Given the description of an element on the screen output the (x, y) to click on. 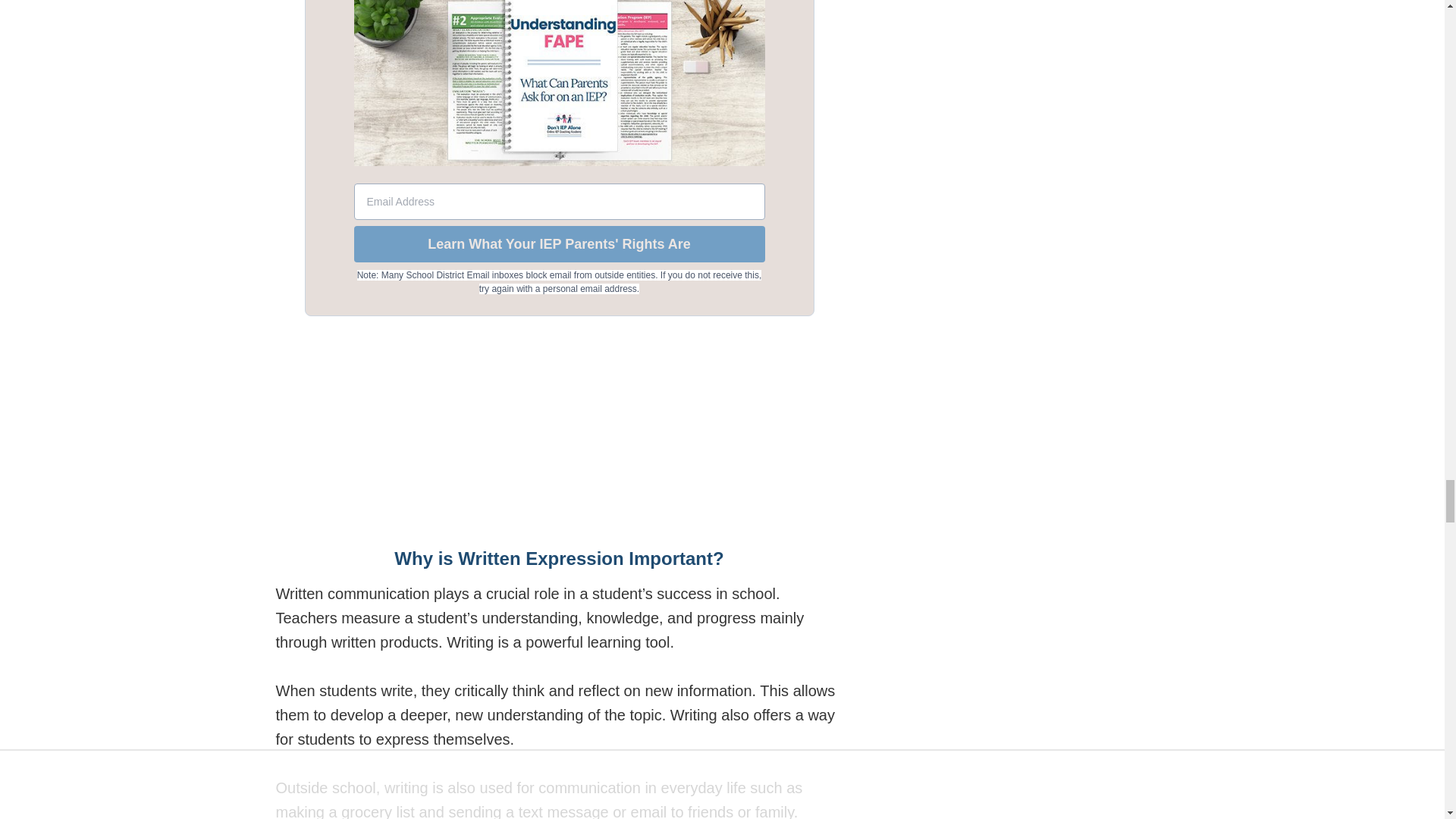
Learn What Your IEP Parents' Rights Are (558, 244)
